Given the description of an element on the screen output the (x, y) to click on. 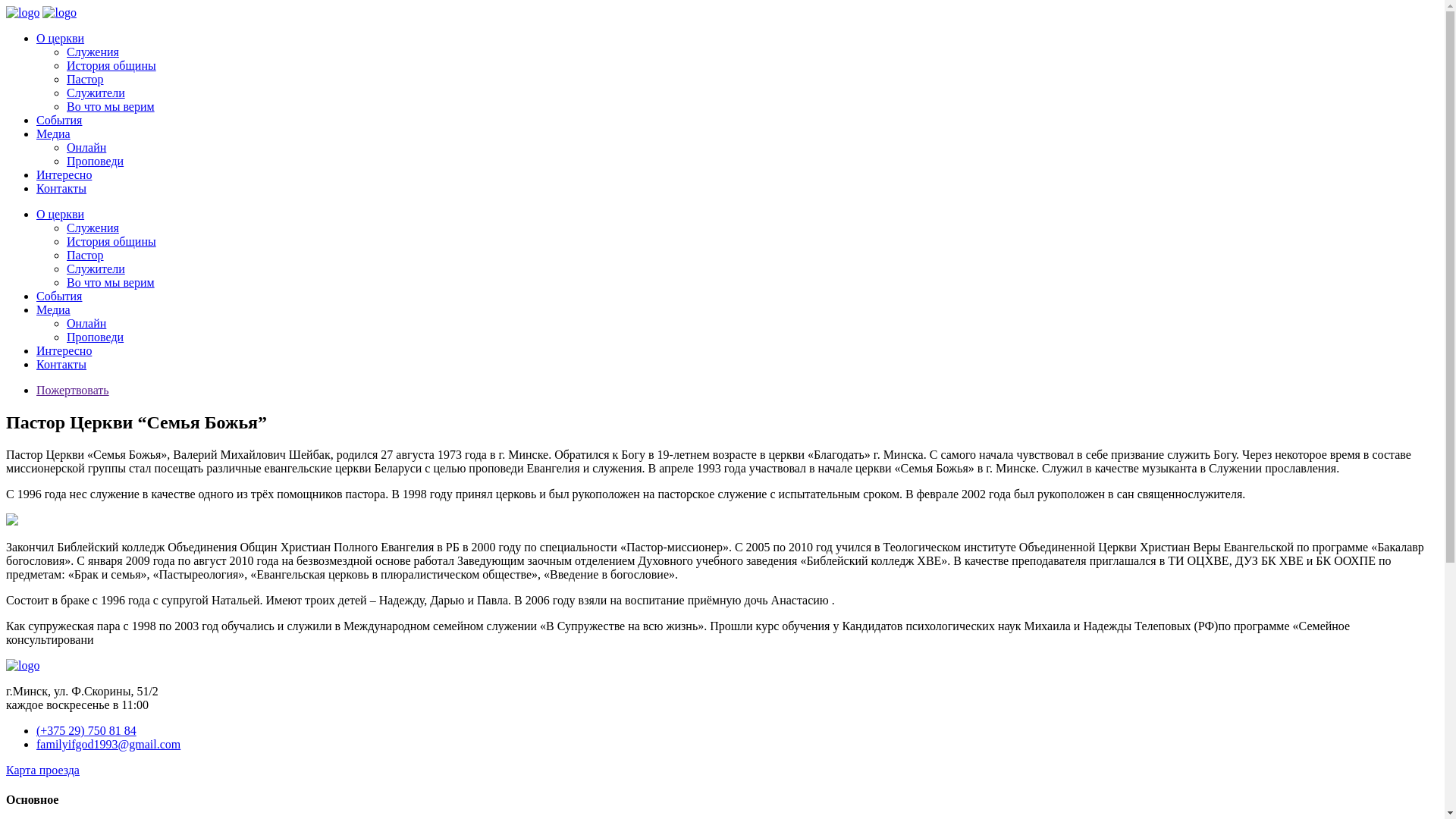
familyifgod1993@gmail.com Element type: text (108, 743)
(+375 29) 750 81 84 Element type: text (86, 730)
